Given the description of an element on the screen output the (x, y) to click on. 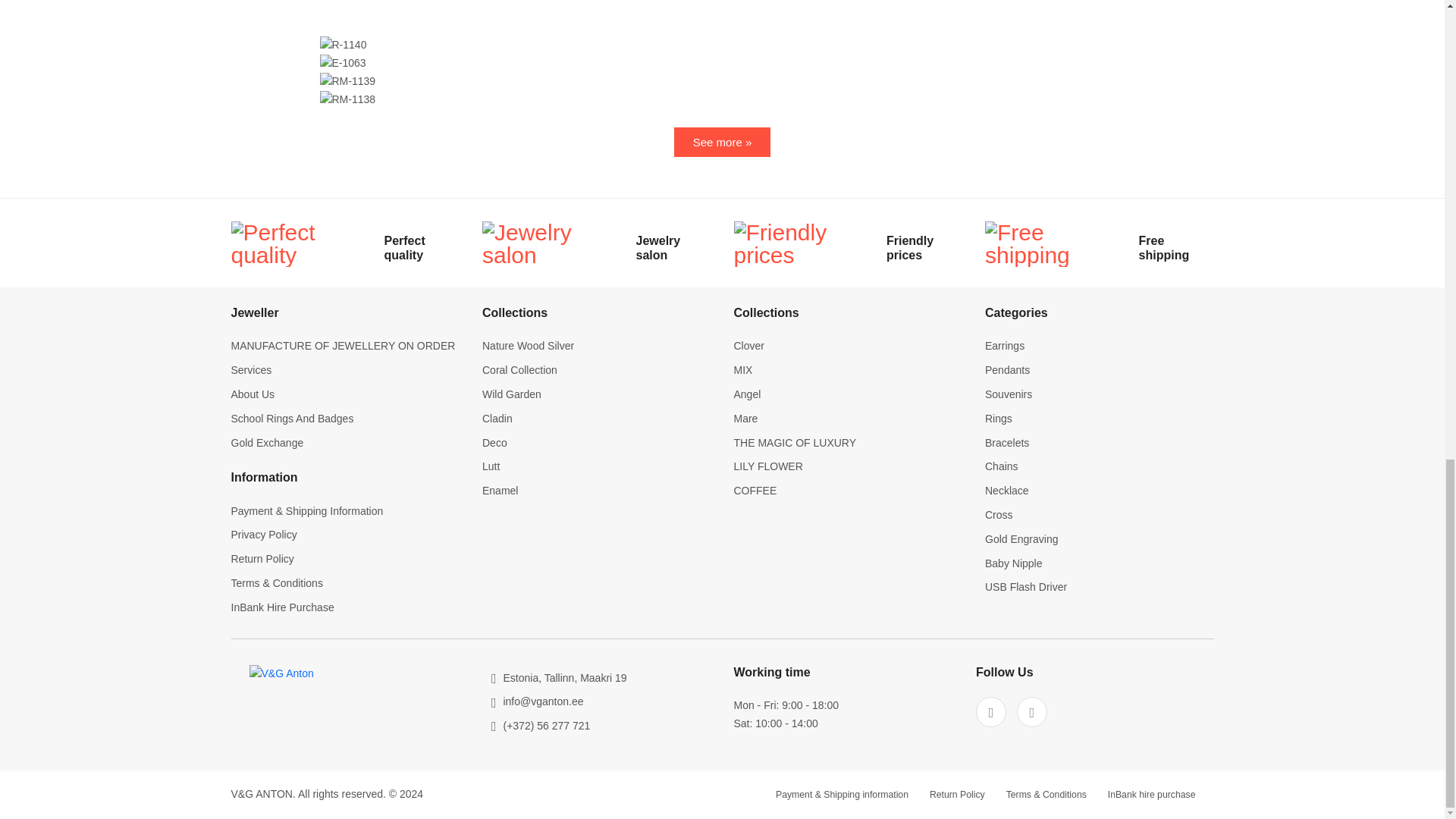
RM-1139 (347, 81)
	E-1063 (343, 63)
RM-1138 (347, 99)
	R-1140 (343, 45)
